Given the description of an element on the screen output the (x, y) to click on. 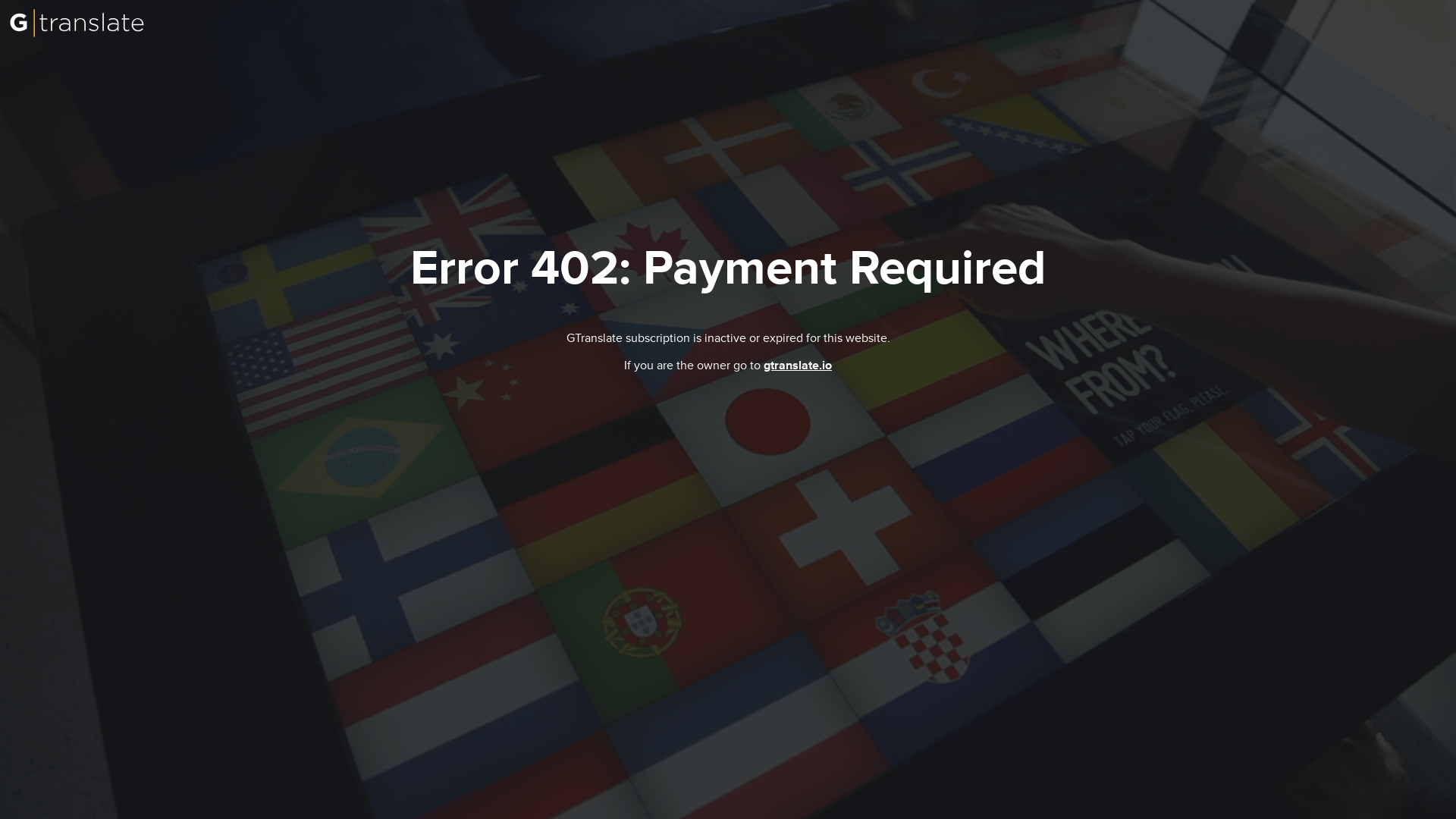
gtranslate.io Element type: text (797, 365)
